Given the description of an element on the screen output the (x, y) to click on. 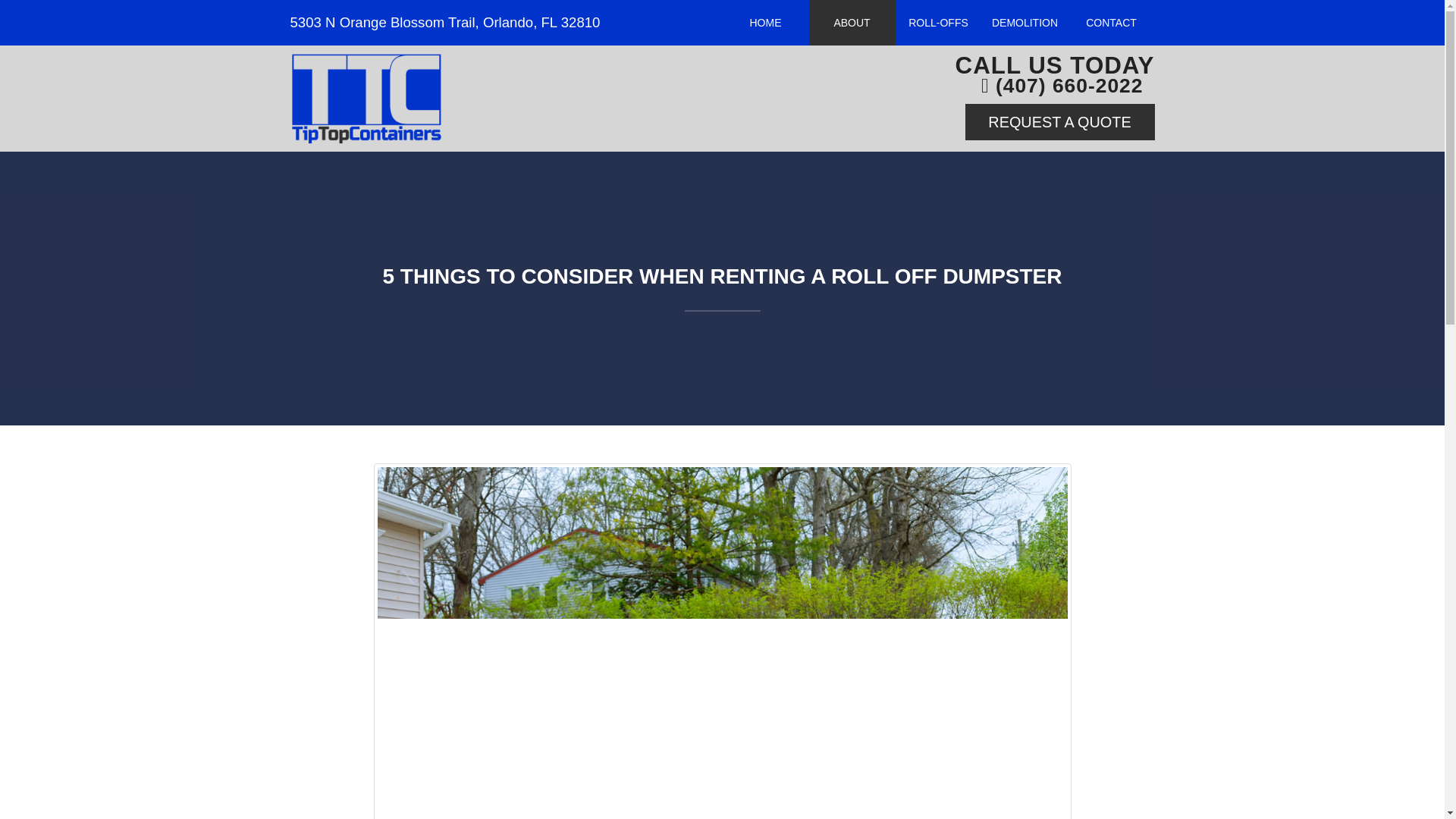
HOME (765, 22)
Demolition (1024, 22)
Roll-Offs (938, 22)
Home (765, 22)
DEMOLITION (1024, 22)
ABOUT (851, 22)
ROLL-OFFS (938, 22)
About (851, 22)
Contact (1110, 22)
CONTACT (1110, 22)
